Given the description of an element on the screen output the (x, y) to click on. 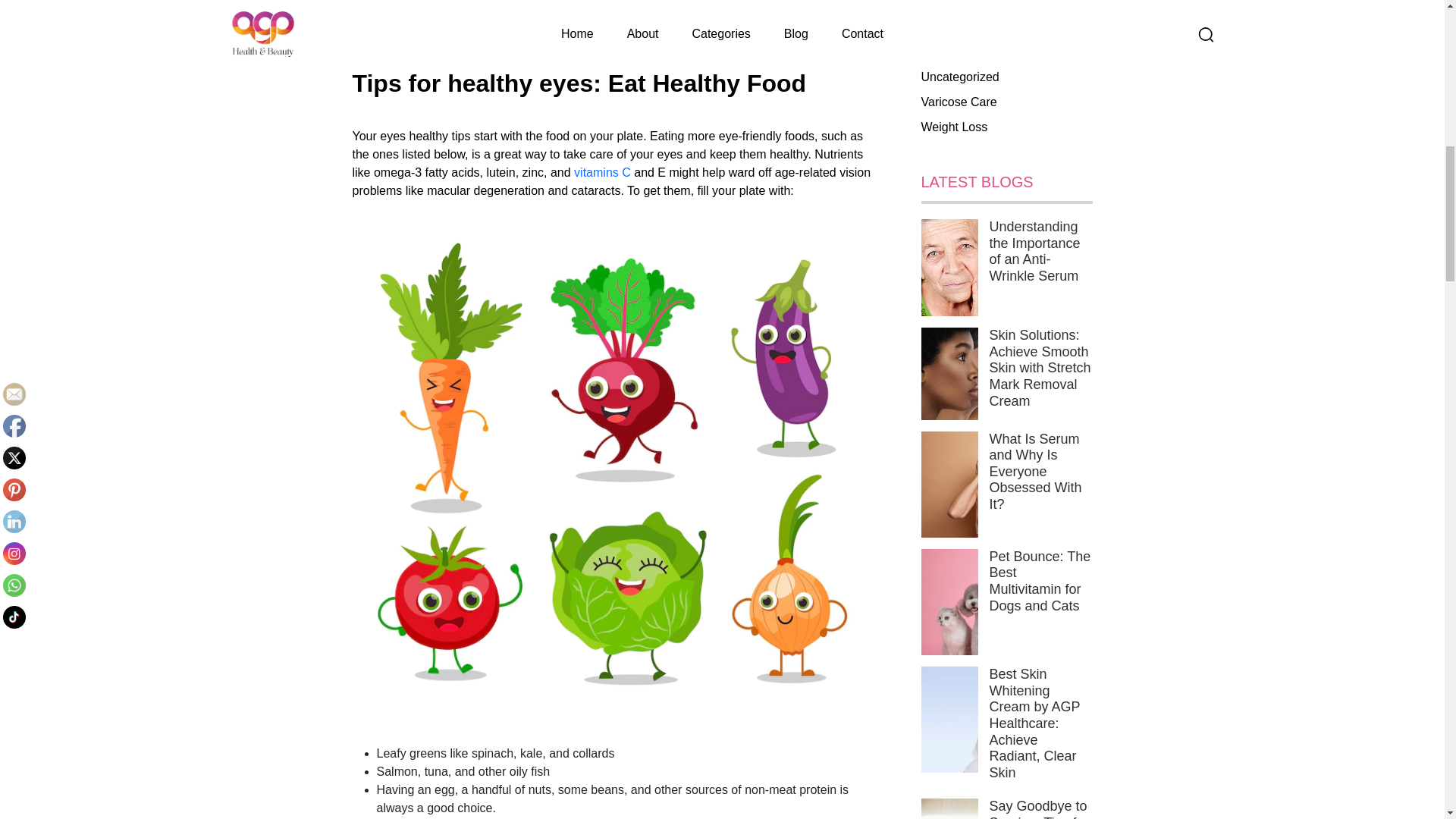
Takeaway (402, 47)
Tips for healthy eyes: Visit Your Eye Doctor Regularly (518, 29)
Look Away From the Computer Screen (480, 11)
vitamins C (601, 172)
